Given the description of an element on the screen output the (x, y) to click on. 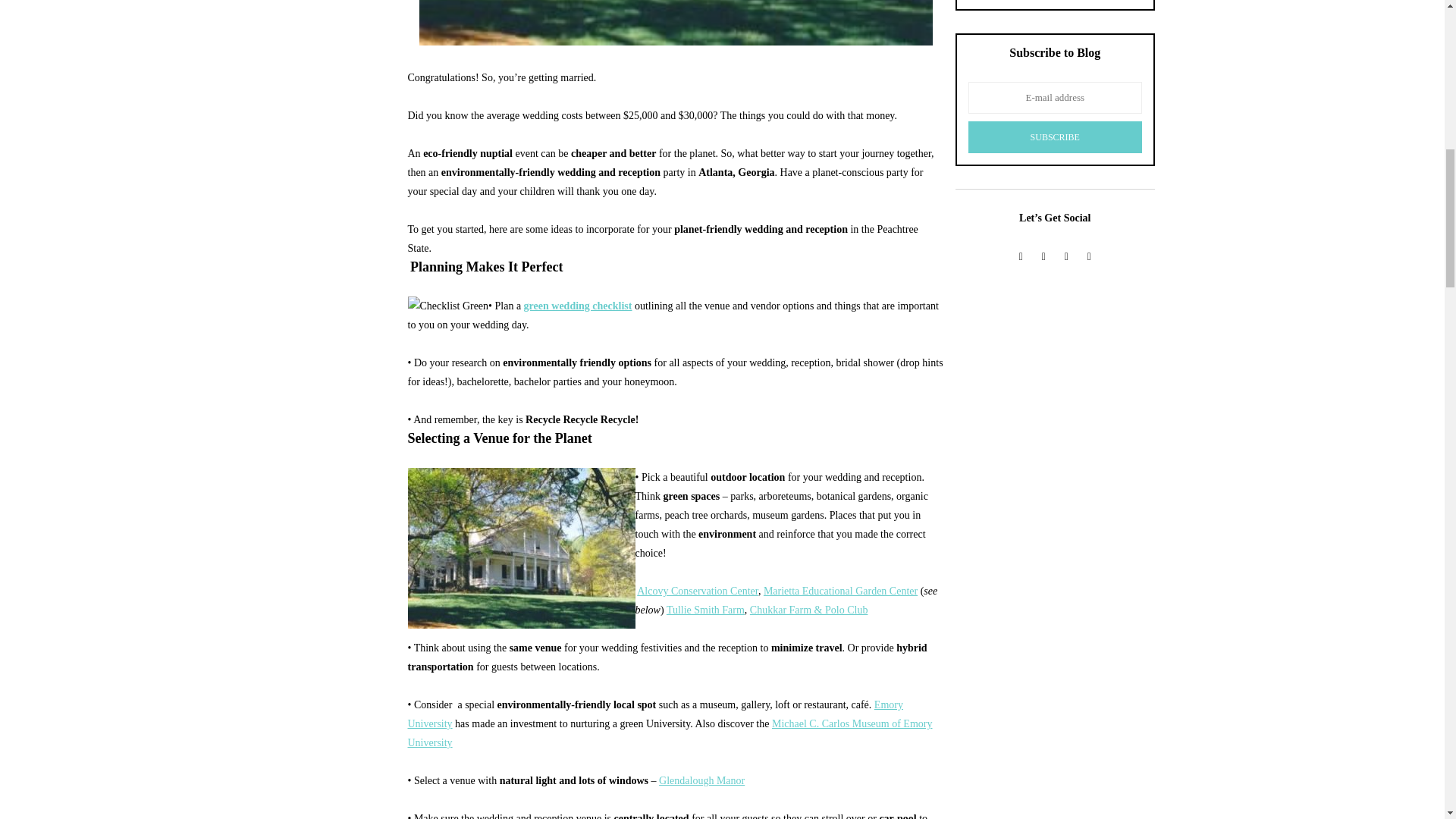
Tullie Smith Farm (705, 609)
Glendalough Manor (701, 780)
Alcovy Conservation Center (697, 591)
Subscribe (1054, 137)
green wedding checklist (577, 306)
Emory University (654, 714)
Marietta Educational Garden Center (839, 591)
Michael C. Carlos Museum of Emory University (670, 733)
